Given the description of an element on the screen output the (x, y) to click on. 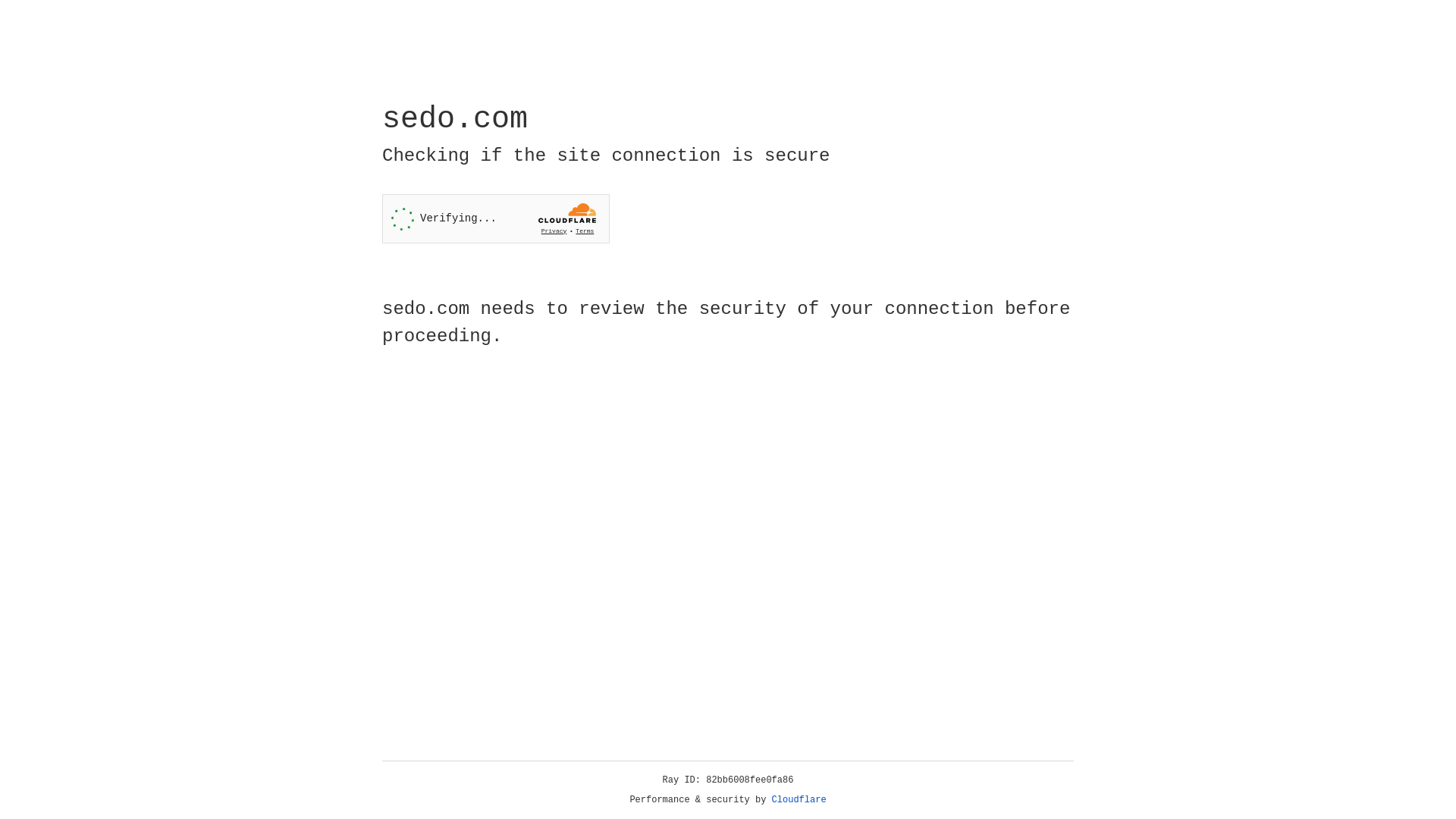
Cloudflare Element type: text (798, 799)
Widget containing a Cloudflare security challenge Element type: hover (495, 218)
